Given the description of an element on the screen output the (x, y) to click on. 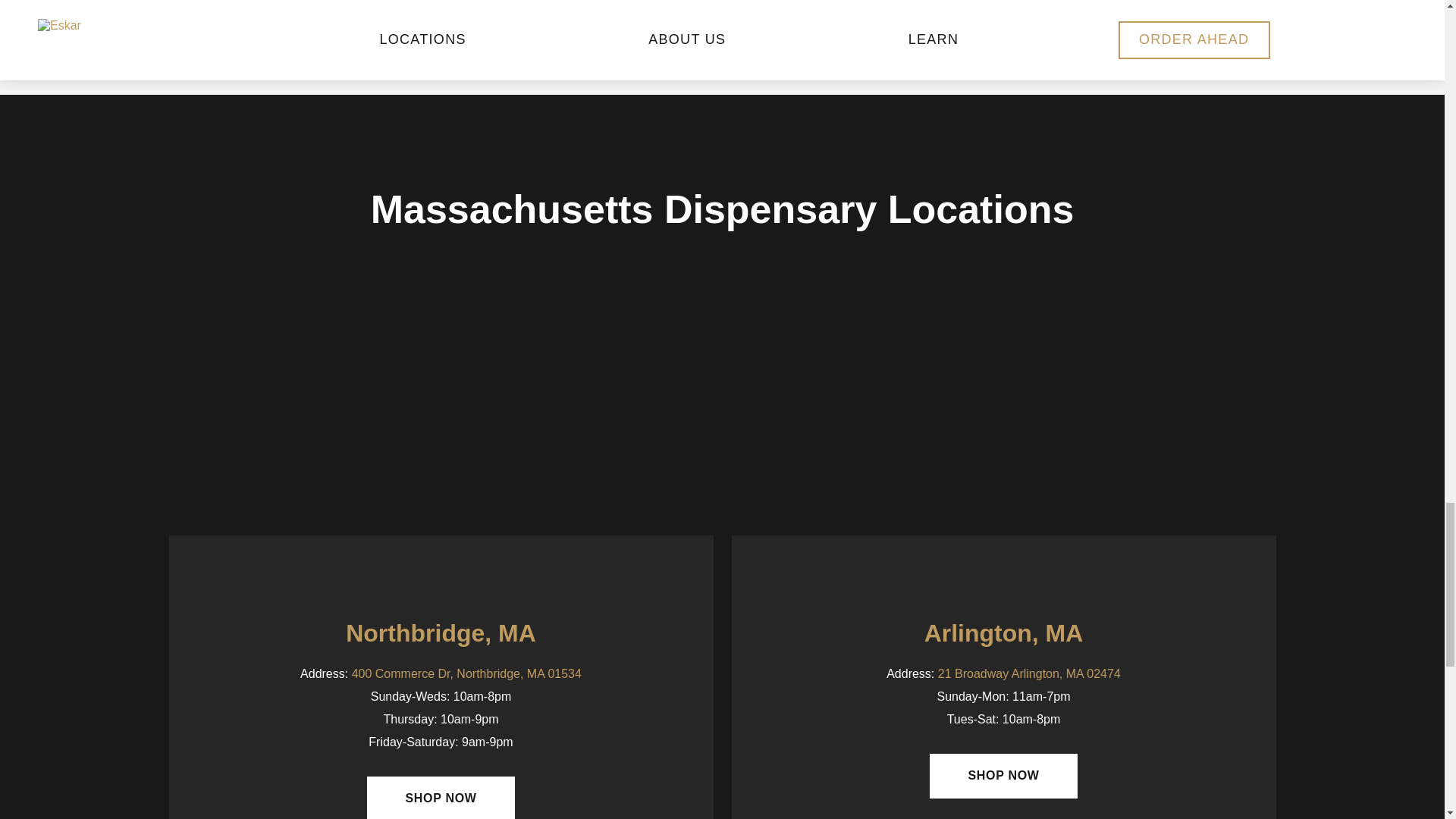
21 Broadway Arlington, MA 02474 (1029, 673)
Arlington, MA (1003, 633)
SHOP NOW (324, 13)
SHOP NOW (440, 797)
CONTACT US (484, 13)
400 Commerce Dr, Northbridge, MA 01534 (466, 673)
SHOP NOW (1003, 775)
Northbridge, MA (440, 633)
